Given the description of an element on the screen output the (x, y) to click on. 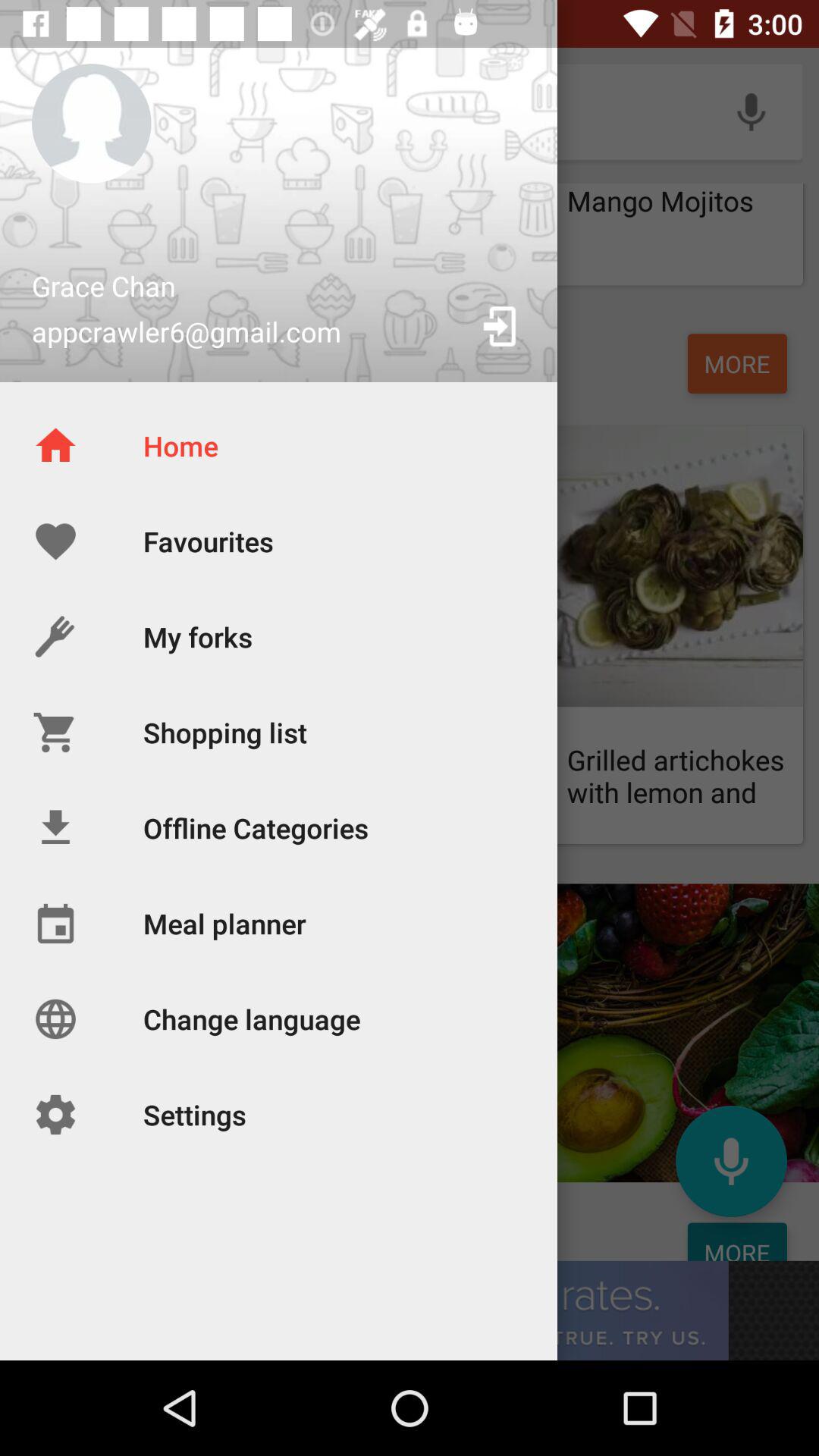
click on image which is above the text grace chan (91, 123)
click on second more at bottom light blue in color (737, 1241)
